Given the description of an element on the screen output the (x, y) to click on. 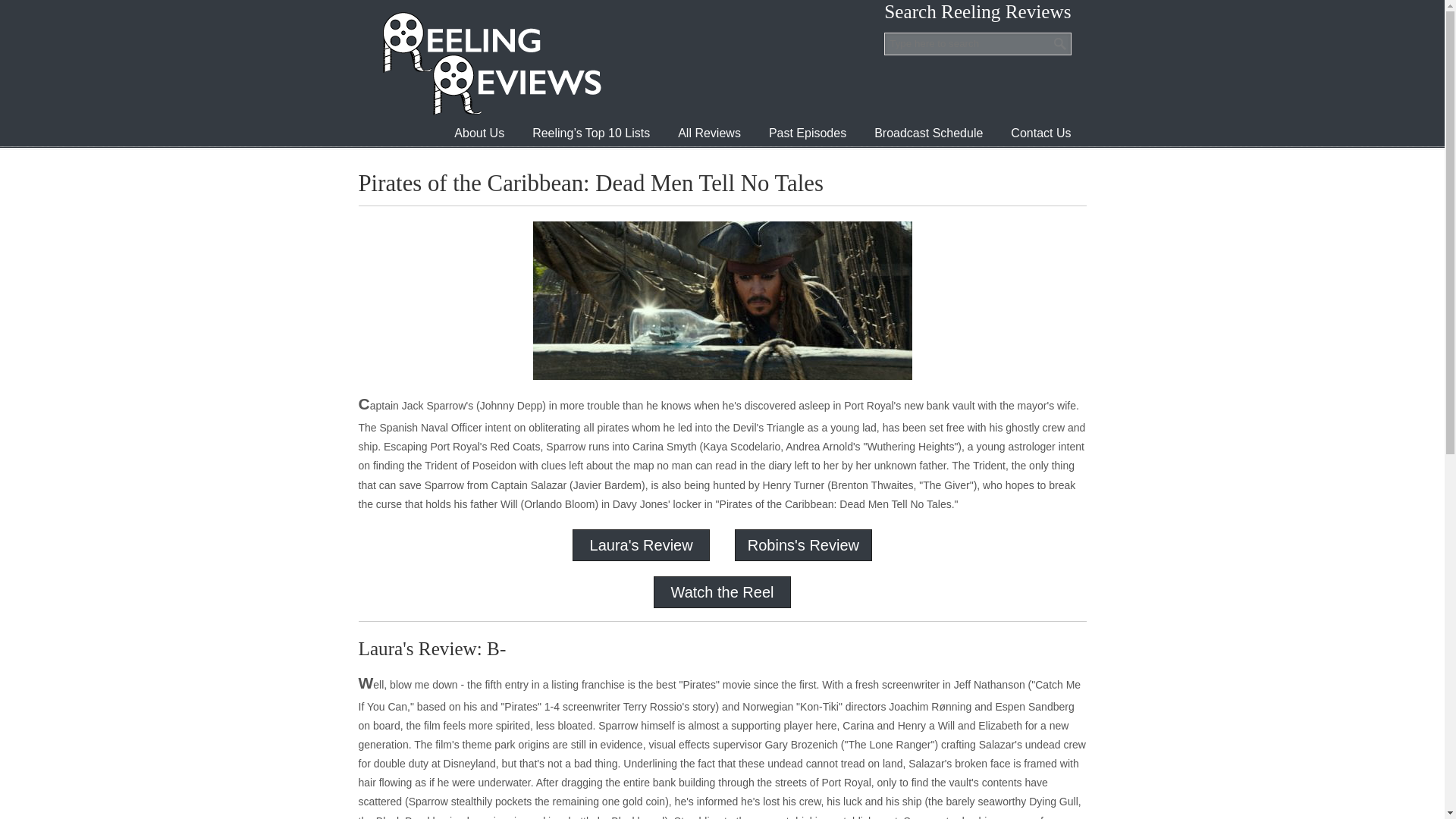
Contact Us (1040, 133)
Robins's Review (803, 545)
Watch the Reel (721, 591)
Past Episodes (807, 133)
Broadcast Schedule (928, 133)
All Reviews (708, 133)
About Us (479, 133)
Laura's Review (641, 545)
Reeling Reviews (489, 63)
Reeling Reviews (489, 63)
